Given the description of an element on the screen output the (x, y) to click on. 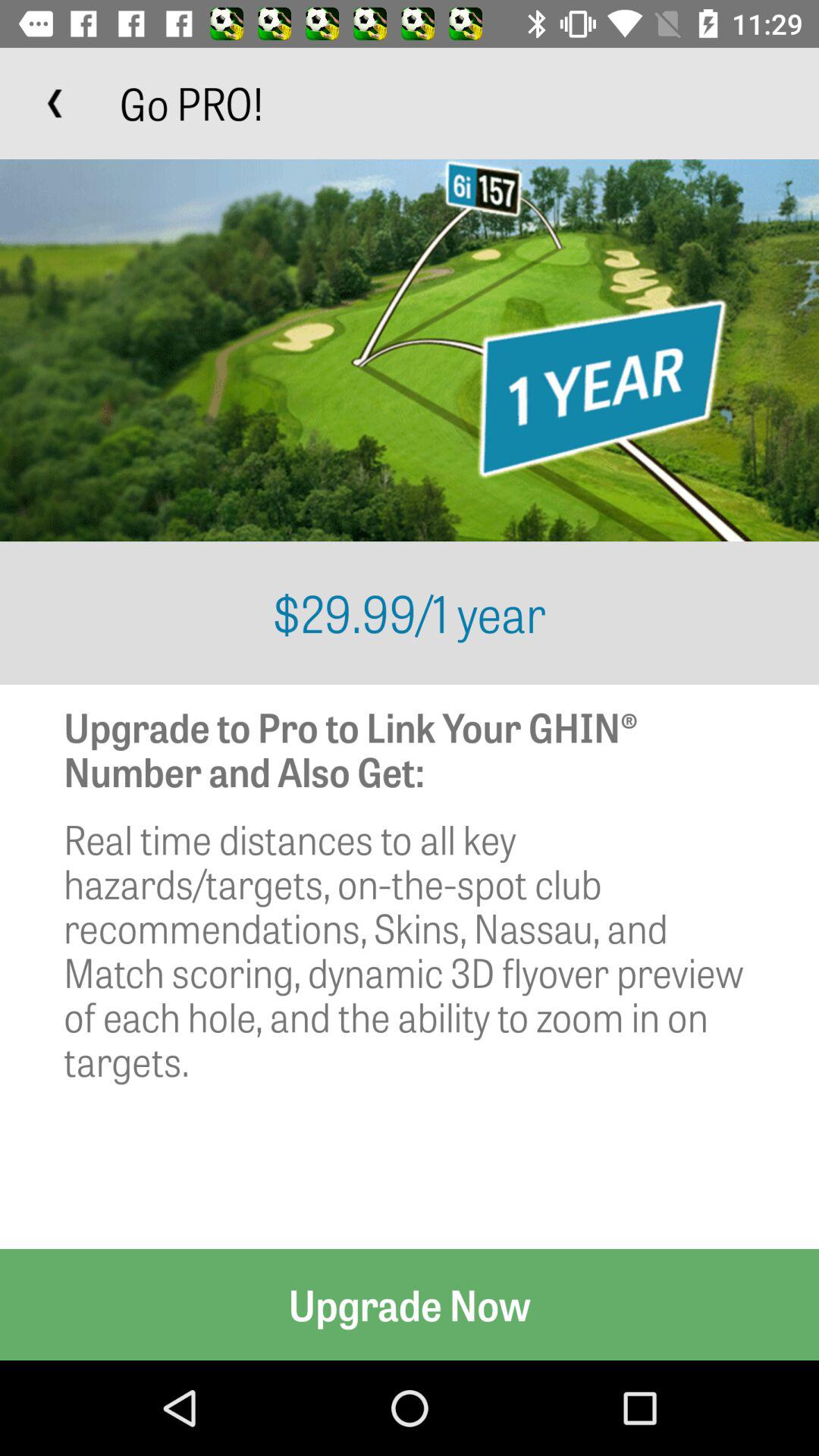
open upgrade now icon (409, 1304)
